Given the description of an element on the screen output the (x, y) to click on. 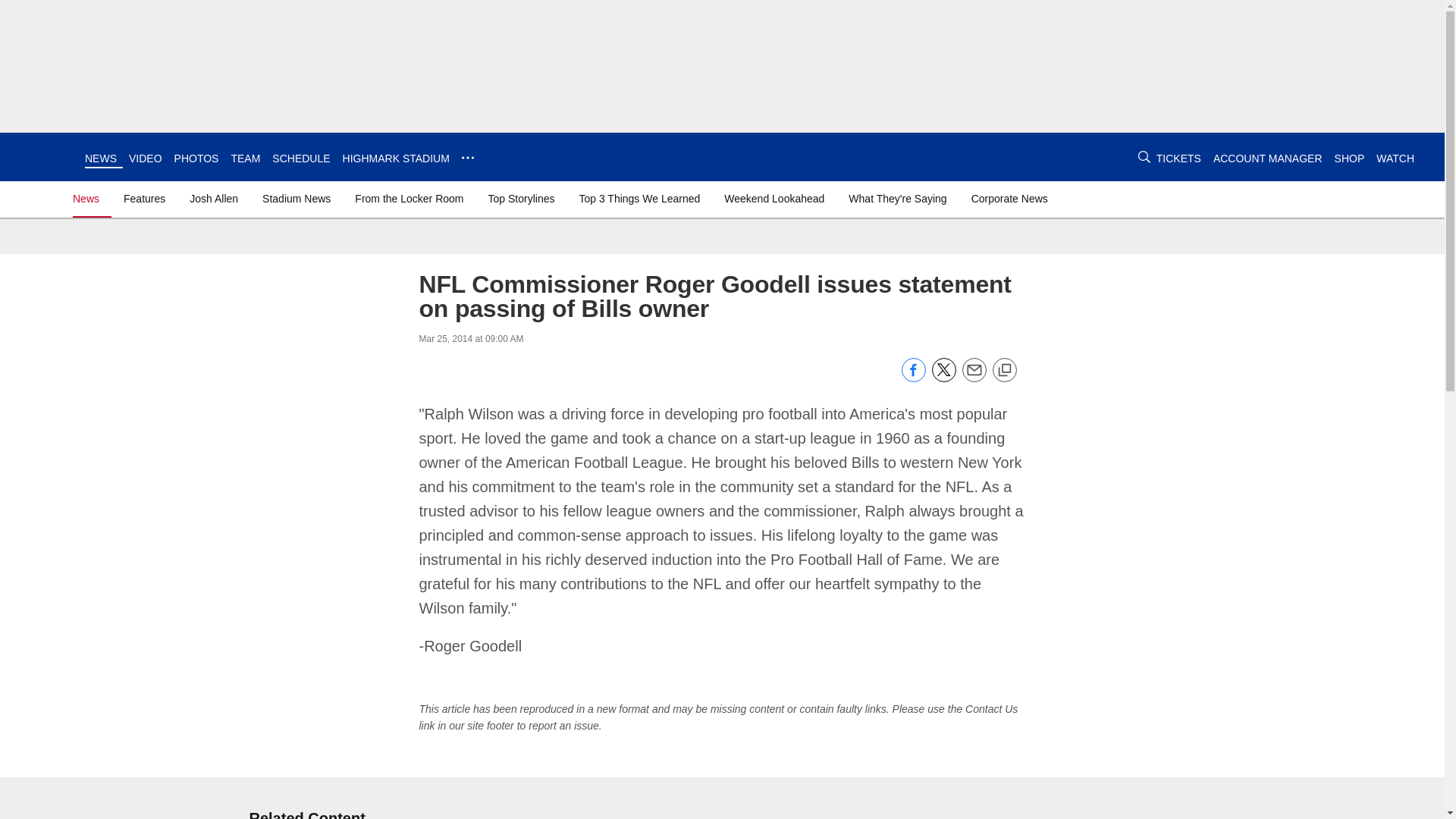
From the Locker Room (408, 198)
PHOTOS (196, 158)
Corporate News (1009, 198)
Josh Allen (213, 198)
VIDEO (145, 158)
TEAM (245, 158)
SCHEDULE (301, 158)
News (88, 198)
ACCOUNT MANAGER (1267, 158)
TICKETS (1178, 158)
